Given the description of an element on the screen output the (x, y) to click on. 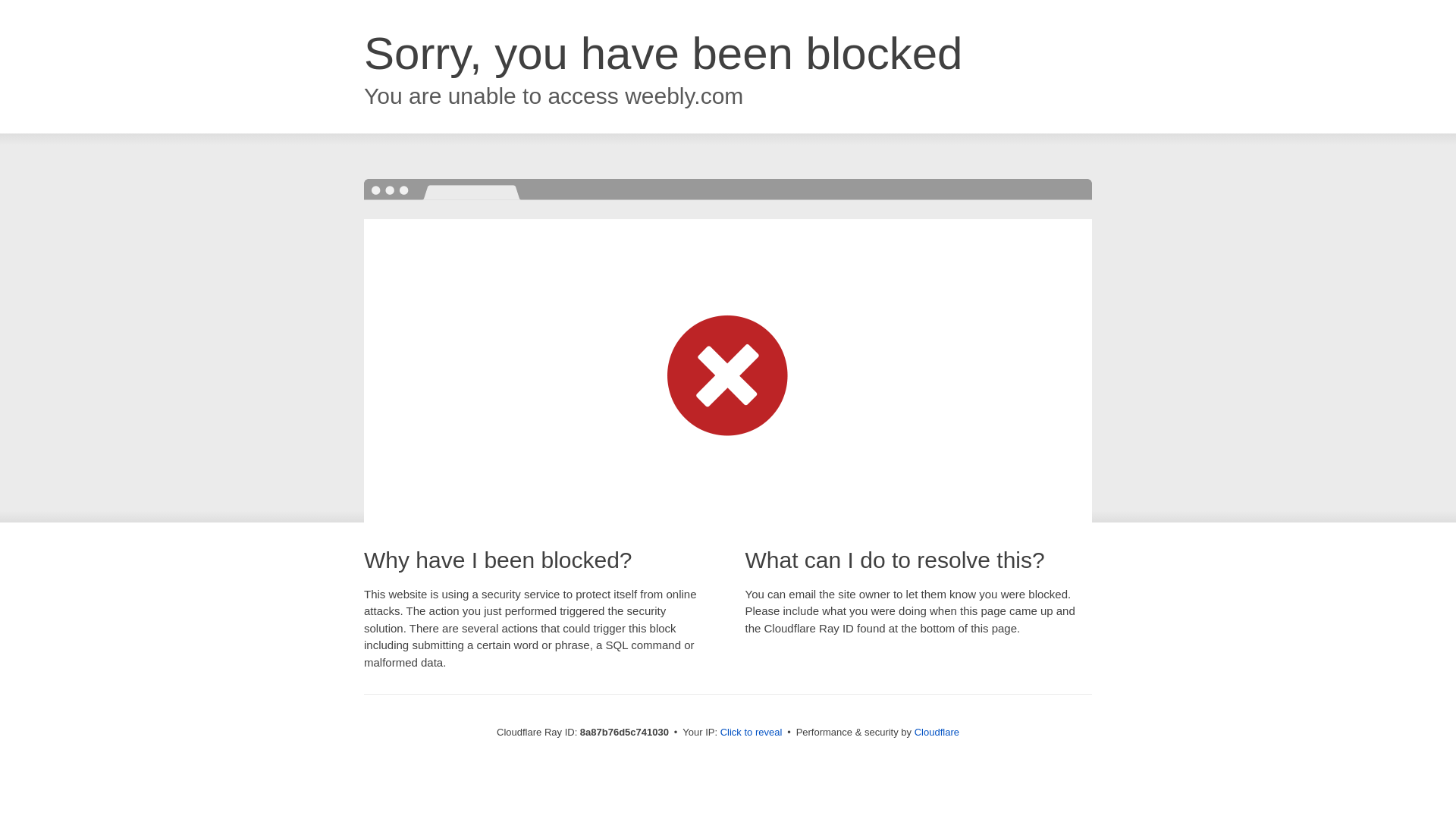
Click to reveal (751, 732)
Cloudflare (936, 731)
